Given the description of an element on the screen output the (x, y) to click on. 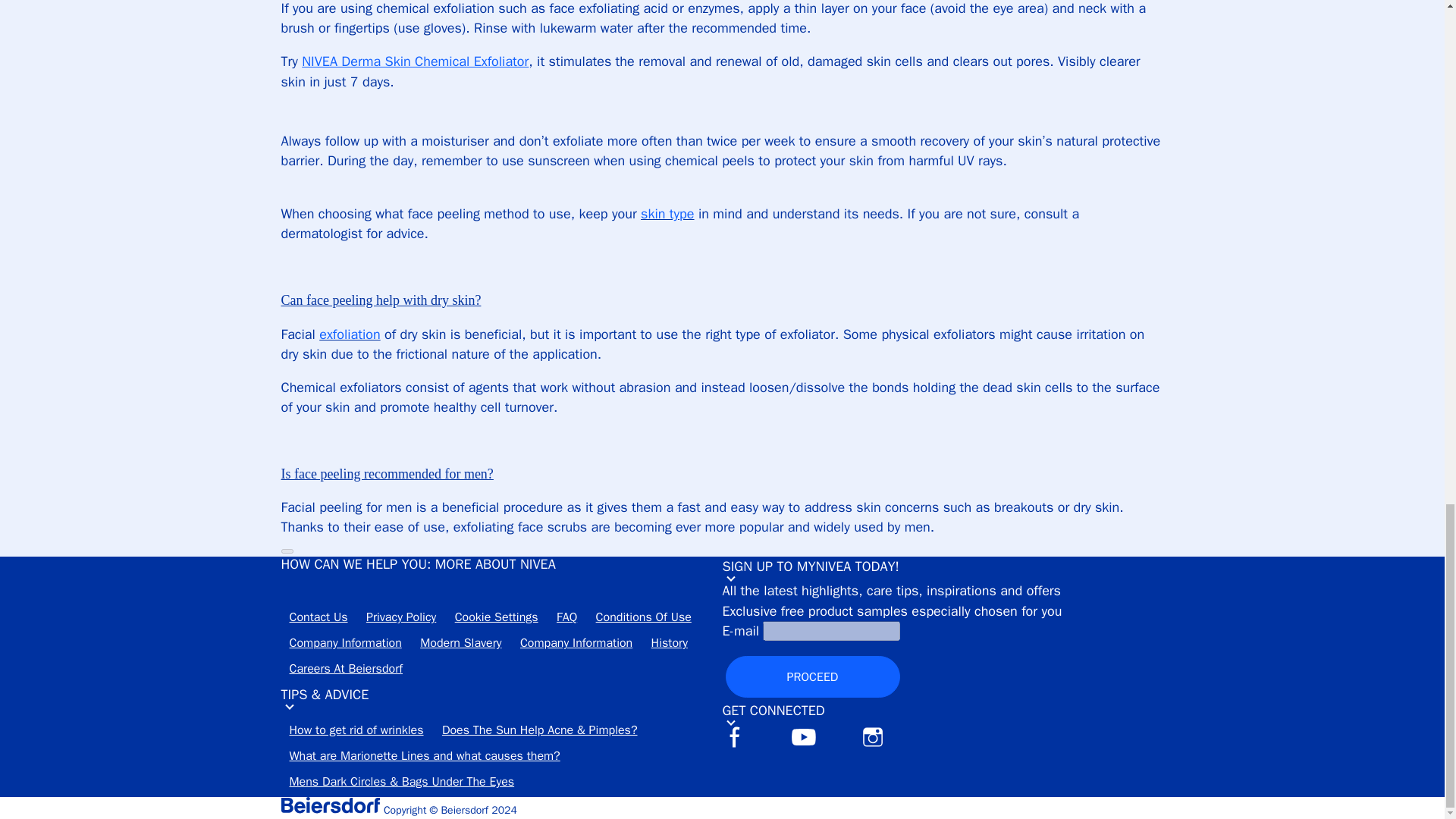
NIVEA Derma Skin Chemical Exfoliator (414, 61)
FAQ (566, 621)
Privacy Policy (401, 621)
exfoliation (349, 333)
Conditions Of Use (644, 621)
Cookie Settings (496, 621)
Contact Us (318, 621)
Company Information (345, 647)
skin type (667, 213)
